Given the description of an element on the screen output the (x, y) to click on. 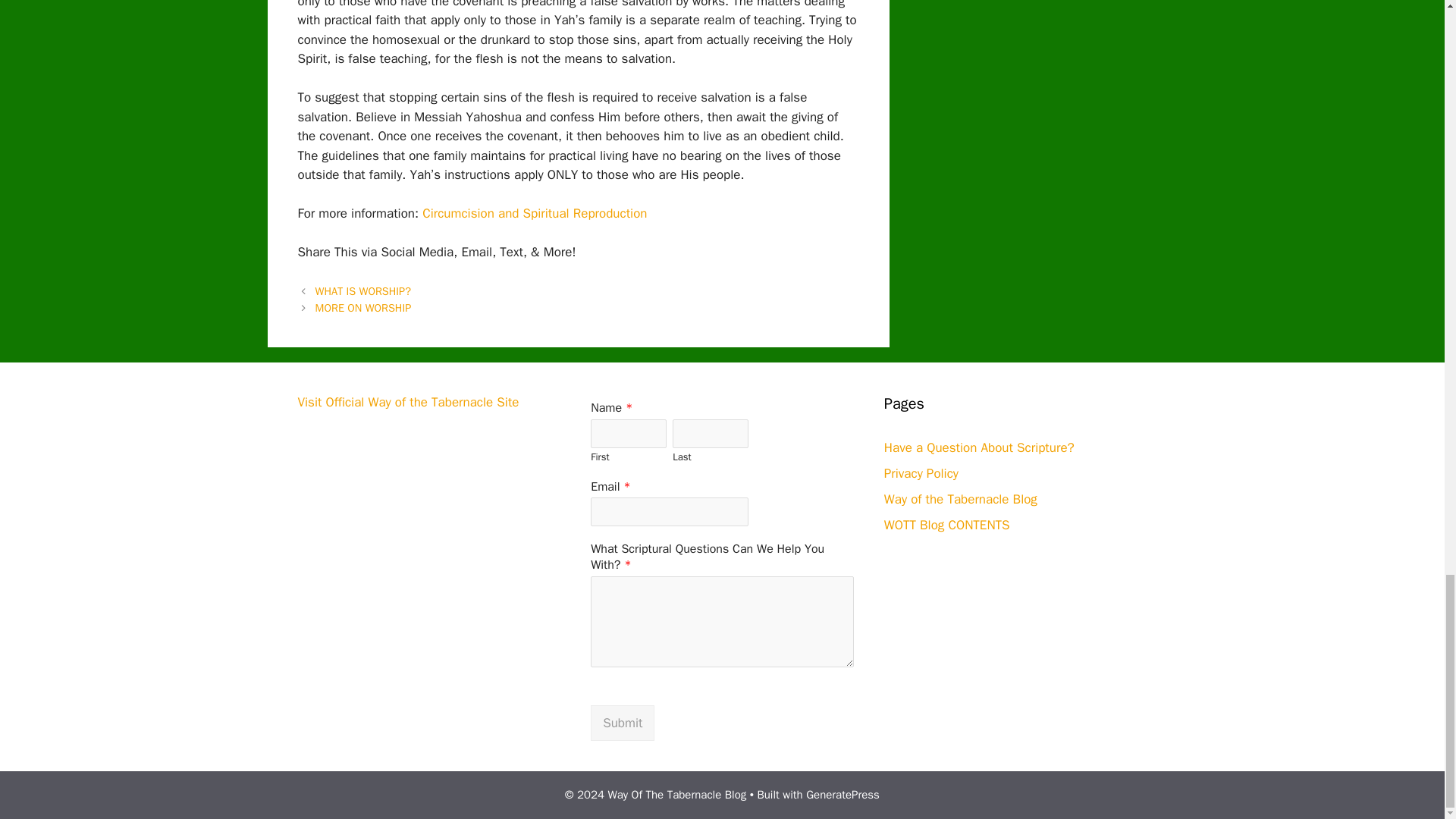
Circumcision and Spiritual Reproduction (534, 213)
MORE ON WORSHIP (363, 307)
WHAT IS WORSHIP? (362, 291)
